Given the description of an element on the screen output the (x, y) to click on. 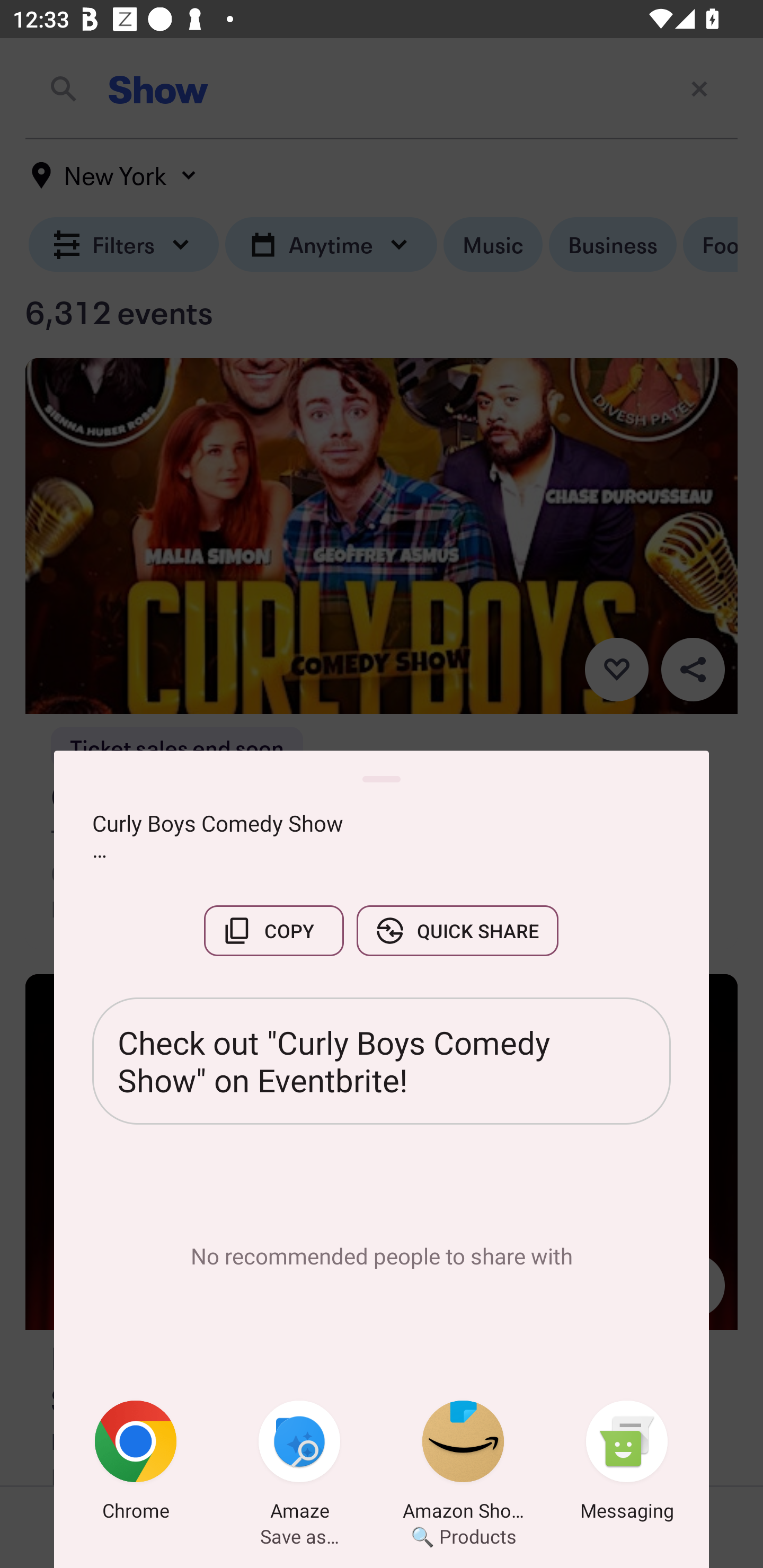
COPY (273, 930)
QUICK SHARE (457, 930)
Chrome (135, 1463)
Amaze Save as… (299, 1463)
Amazon Shopping 🔍 Products (463, 1463)
Messaging (626, 1463)
